Given the description of an element on the screen output the (x, y) to click on. 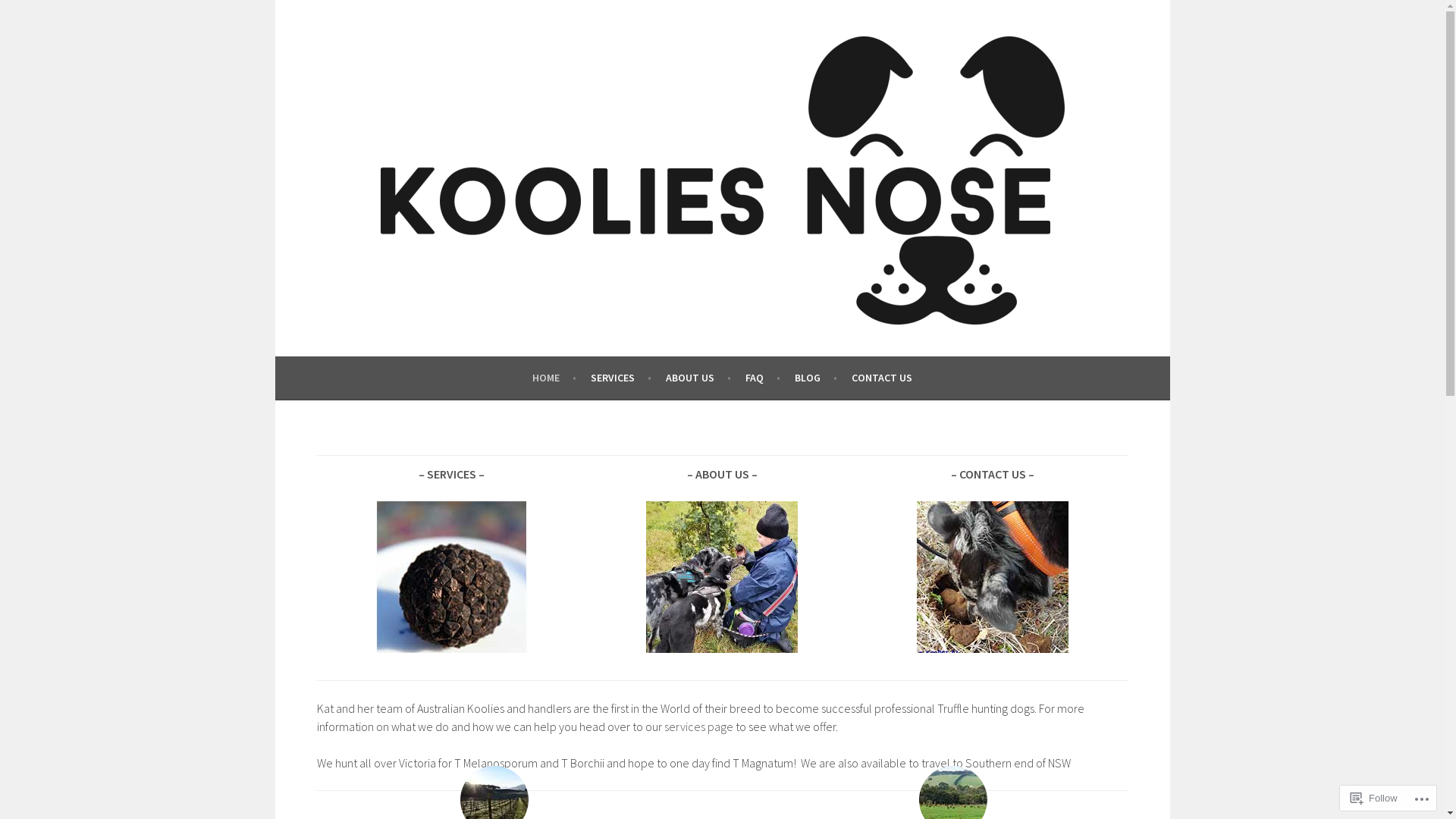
BLOG Element type: text (815, 377)
ABOUT US Element type: text (698, 377)
KOOLIES NOSE TRUFFLE DOGS Element type: text (478, 365)
HOME Element type: text (554, 377)
Follow Element type: text (1373, 797)
CONTACT US Element type: text (881, 377)
services page Element type: text (698, 726)
FAQ Element type: text (762, 377)
SERVICES Element type: text (620, 377)
